Given the description of an element on the screen output the (x, y) to click on. 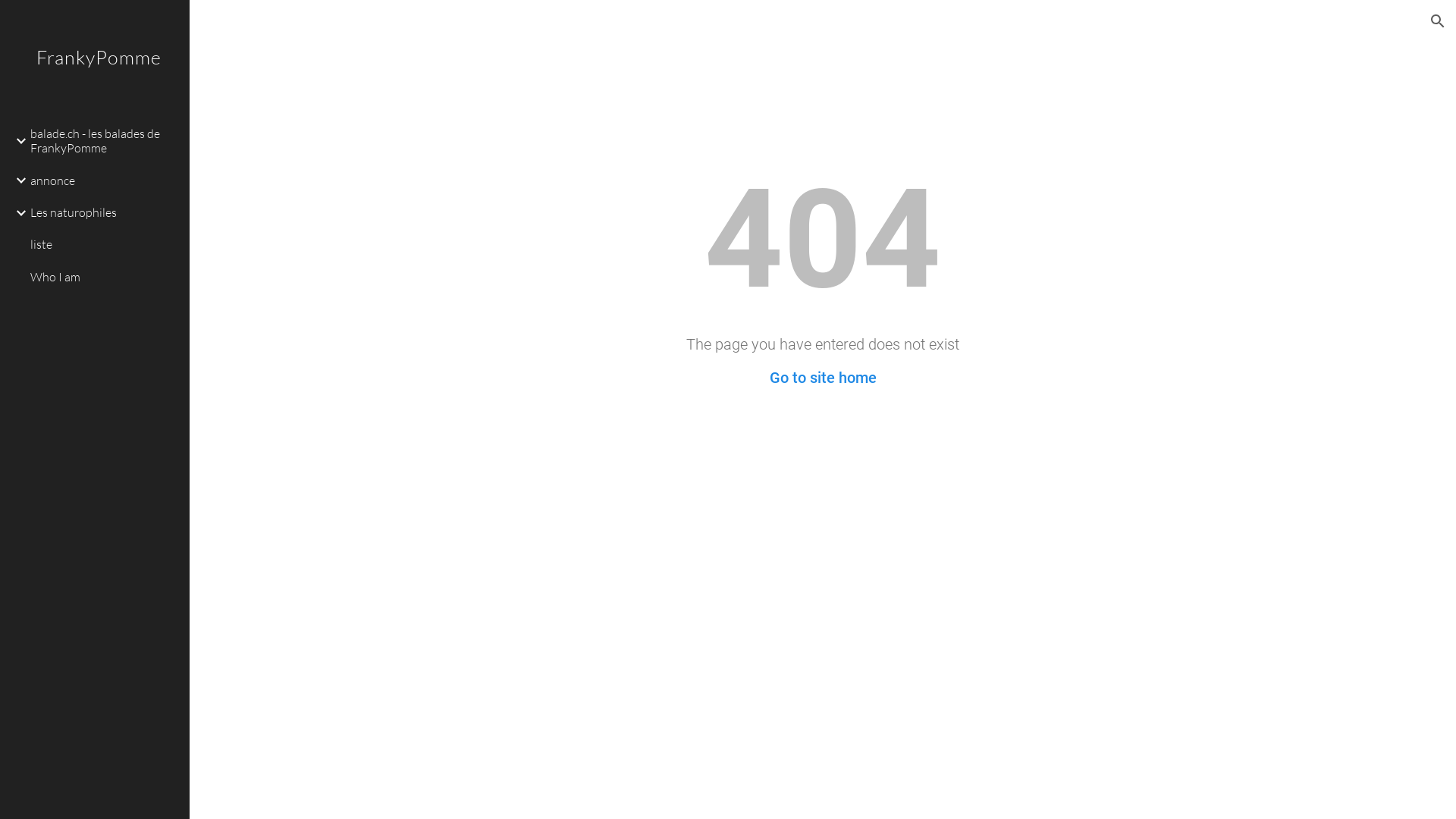
Expand/Collapse Element type: hover (16, 212)
Go to site home Element type: text (821, 377)
annonce Element type: text (103, 180)
liste Element type: text (103, 244)
balade.ch - les balades de FrankyPomme Element type: text (103, 140)
Les naturophiles Element type: text (103, 213)
Who I am Element type: text (103, 276)
Expand/Collapse Element type: hover (16, 180)
FrankyPomme Element type: text (94, 76)
Expand/Collapse Element type: hover (16, 140)
